Given the description of an element on the screen output the (x, y) to click on. 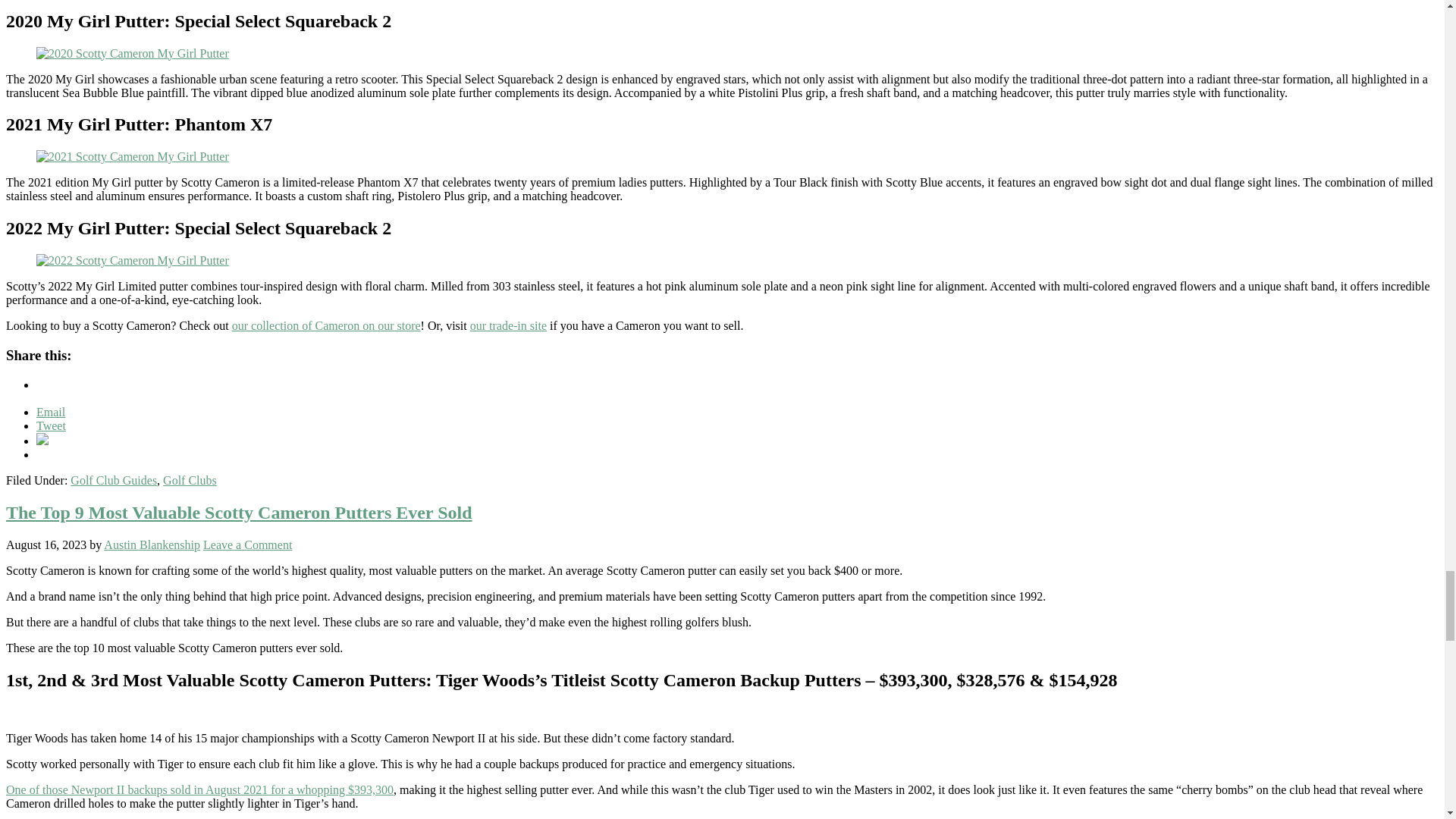
Click to email this to a friend (50, 411)
